Given the description of an element on the screen output the (x, y) to click on. 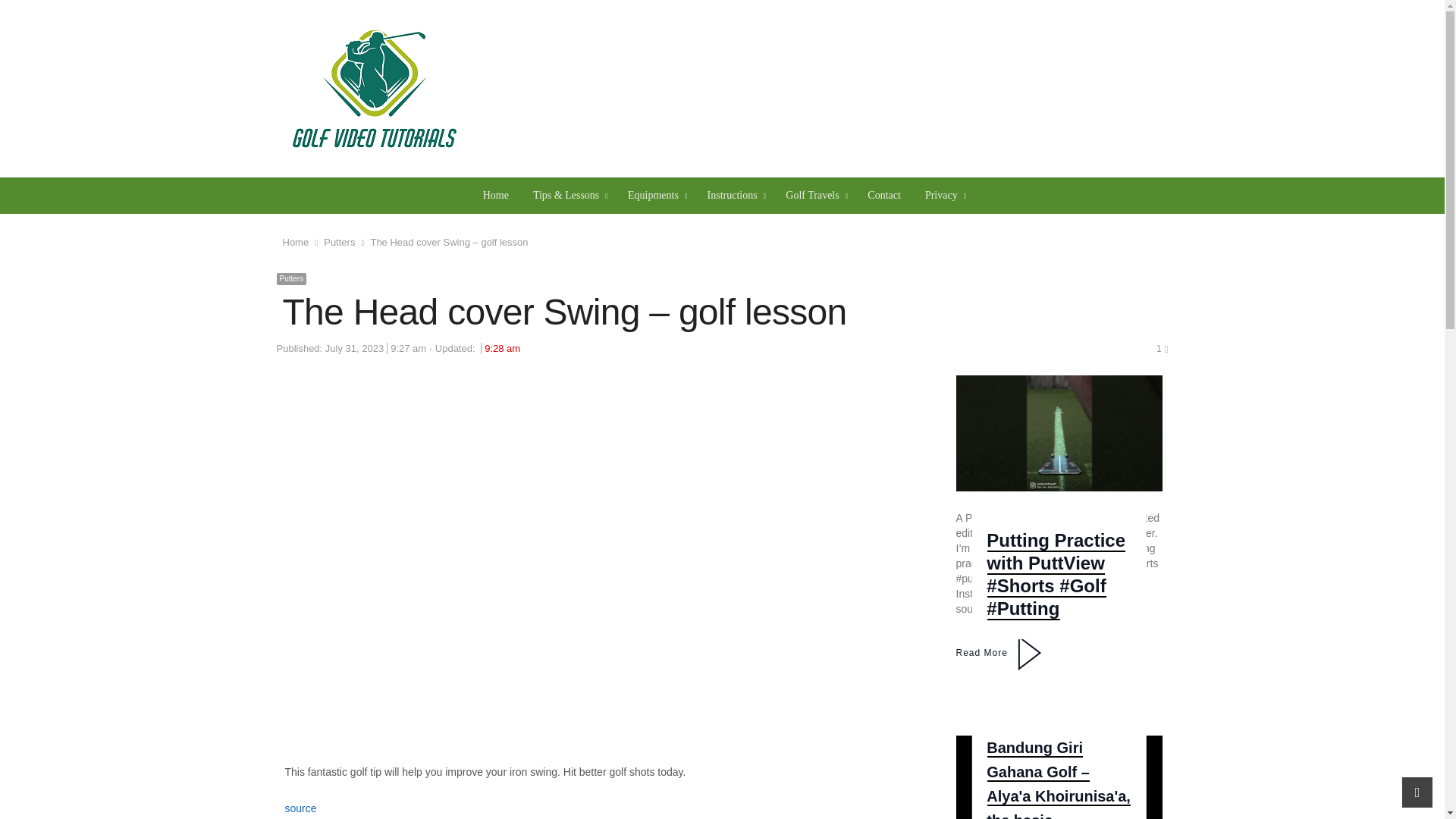
Instructions (734, 195)
Putters (290, 278)
Contact (884, 195)
1 (1161, 348)
Home (295, 242)
Putters (339, 242)
Home (495, 195)
Home (495, 195)
Equipments (655, 195)
Golf Travels (814, 195)
Scroll to top (1417, 792)
scroll to top (1417, 792)
Privacy (943, 195)
